Given the description of an element on the screen output the (x, y) to click on. 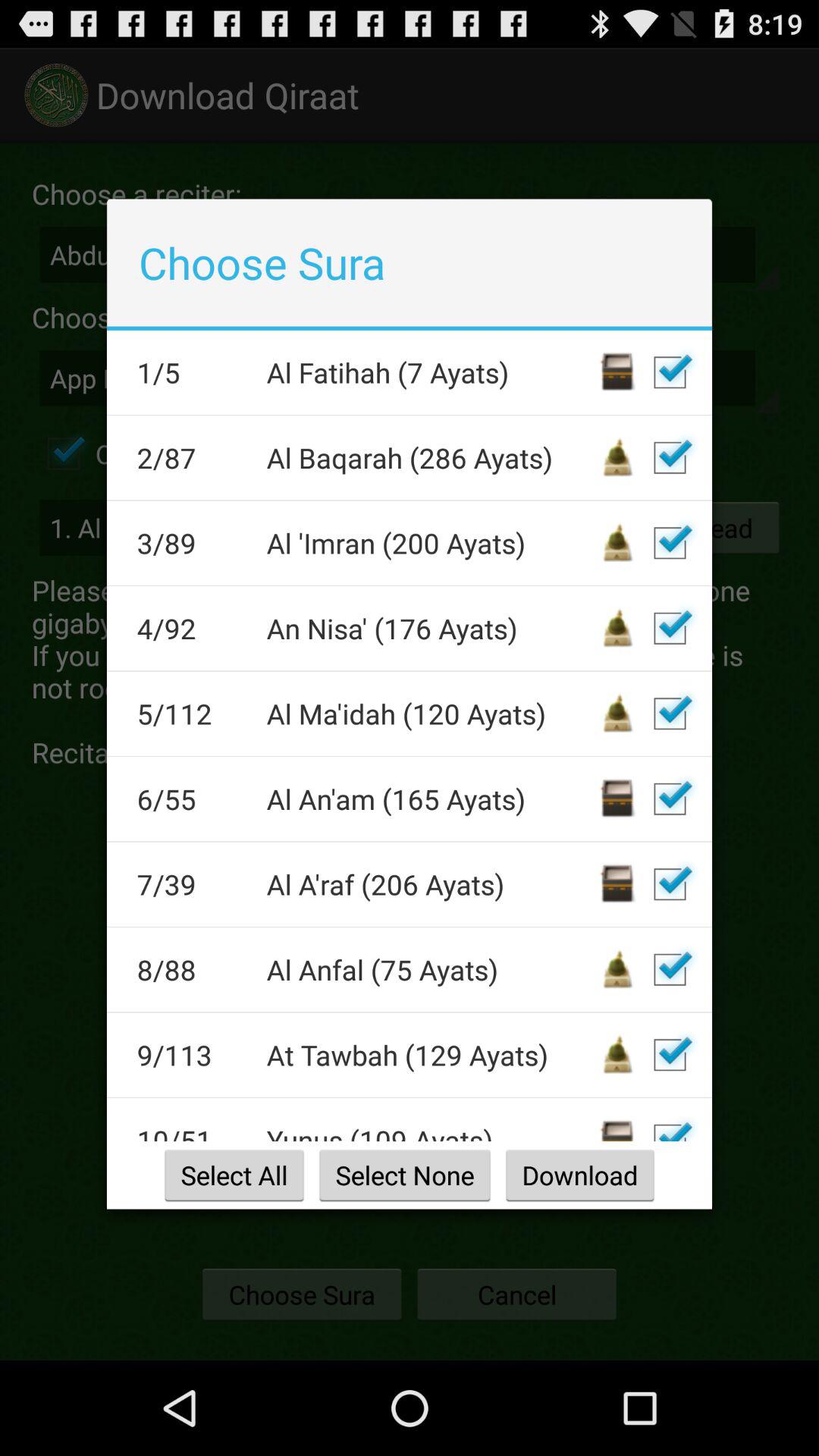
choose button above download button (669, 1124)
